Given the description of an element on the screen output the (x, y) to click on. 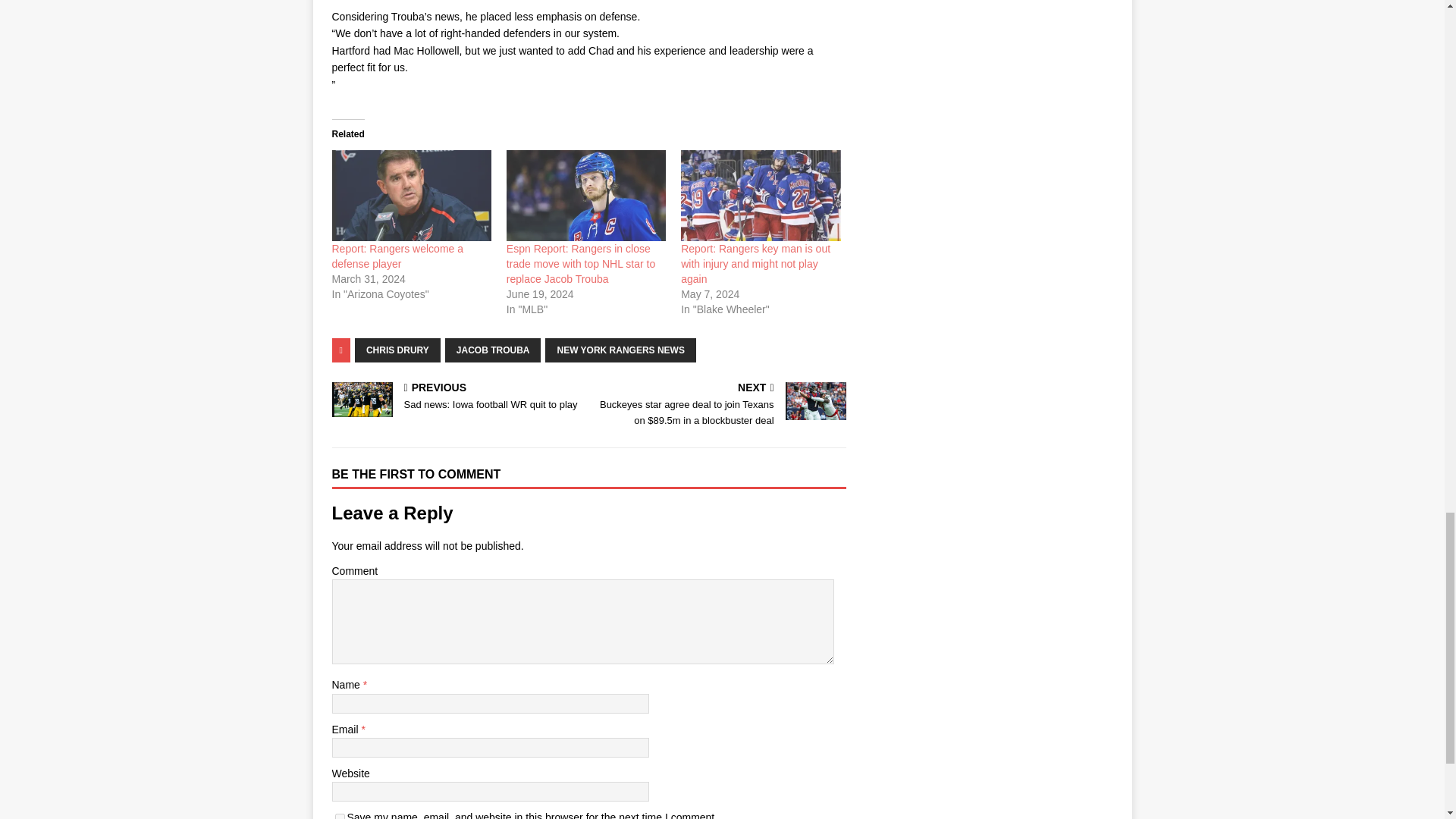
CHRIS DRURY (398, 350)
Report: Rangers welcome a defense player (397, 256)
NEW YORK RANGERS NEWS (619, 350)
Report: Rangers welcome a defense player (411, 194)
JACOB TROUBA (493, 350)
yes (457, 397)
Report: Rangers welcome a defense player (339, 816)
